Given the description of an element on the screen output the (x, y) to click on. 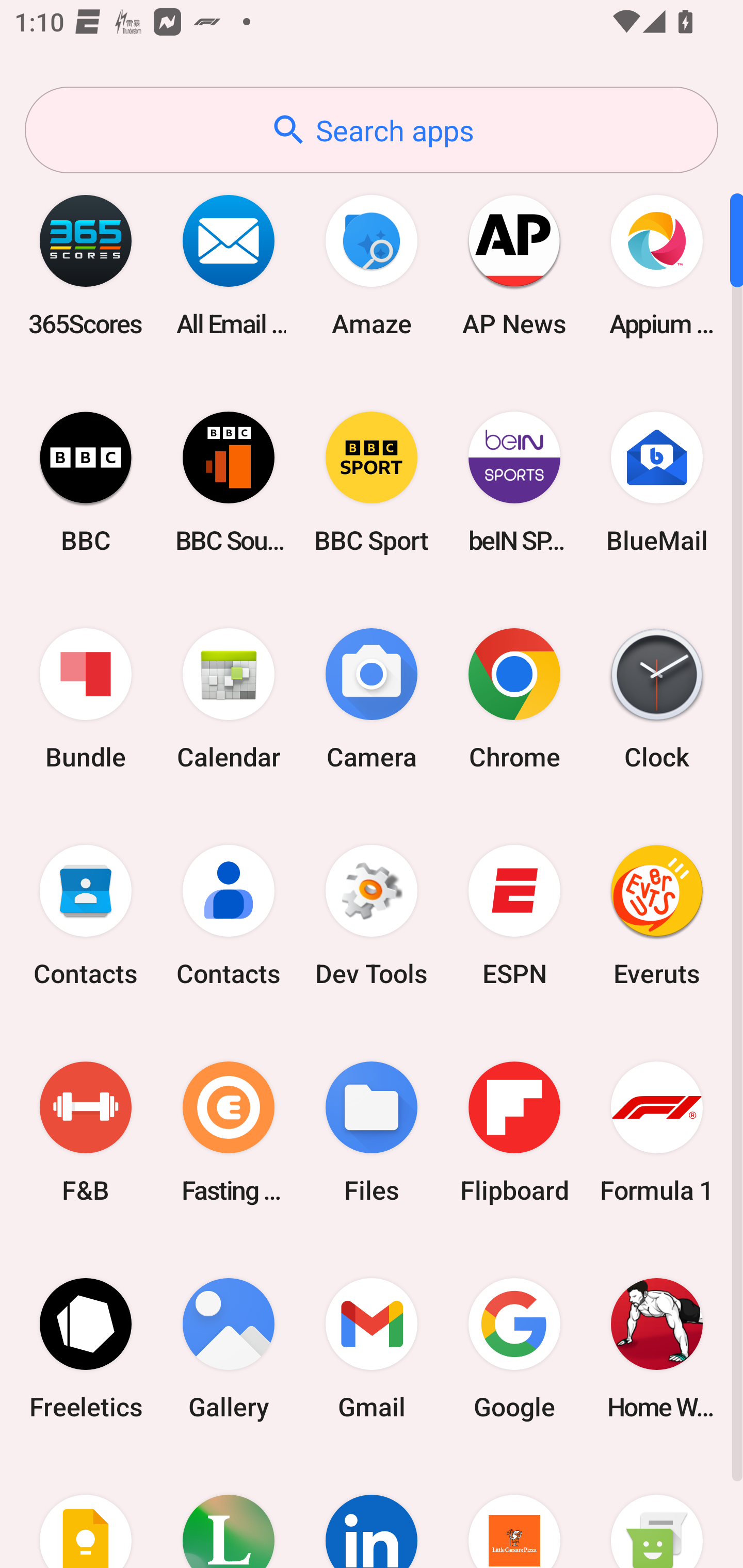
  Search apps (371, 130)
365Scores (85, 264)
All Email Connect (228, 264)
Amaze (371, 264)
AP News (514, 264)
Appium Settings (656, 264)
BBC (85, 482)
BBC Sounds (228, 482)
BBC Sport (371, 482)
beIN SPORTS (514, 482)
BlueMail (656, 482)
Bundle (85, 699)
Calendar (228, 699)
Camera (371, 699)
Chrome (514, 699)
Clock (656, 699)
Contacts (85, 915)
Contacts (228, 915)
Dev Tools (371, 915)
ESPN (514, 915)
Everuts (656, 915)
F&B (85, 1131)
Fasting Coach (228, 1131)
Files (371, 1131)
Flipboard (514, 1131)
Formula 1 (656, 1131)
Freeletics (85, 1348)
Gallery (228, 1348)
Gmail (371, 1348)
Google (514, 1348)
Home Workout (656, 1348)
